Given the description of an element on the screen output the (x, y) to click on. 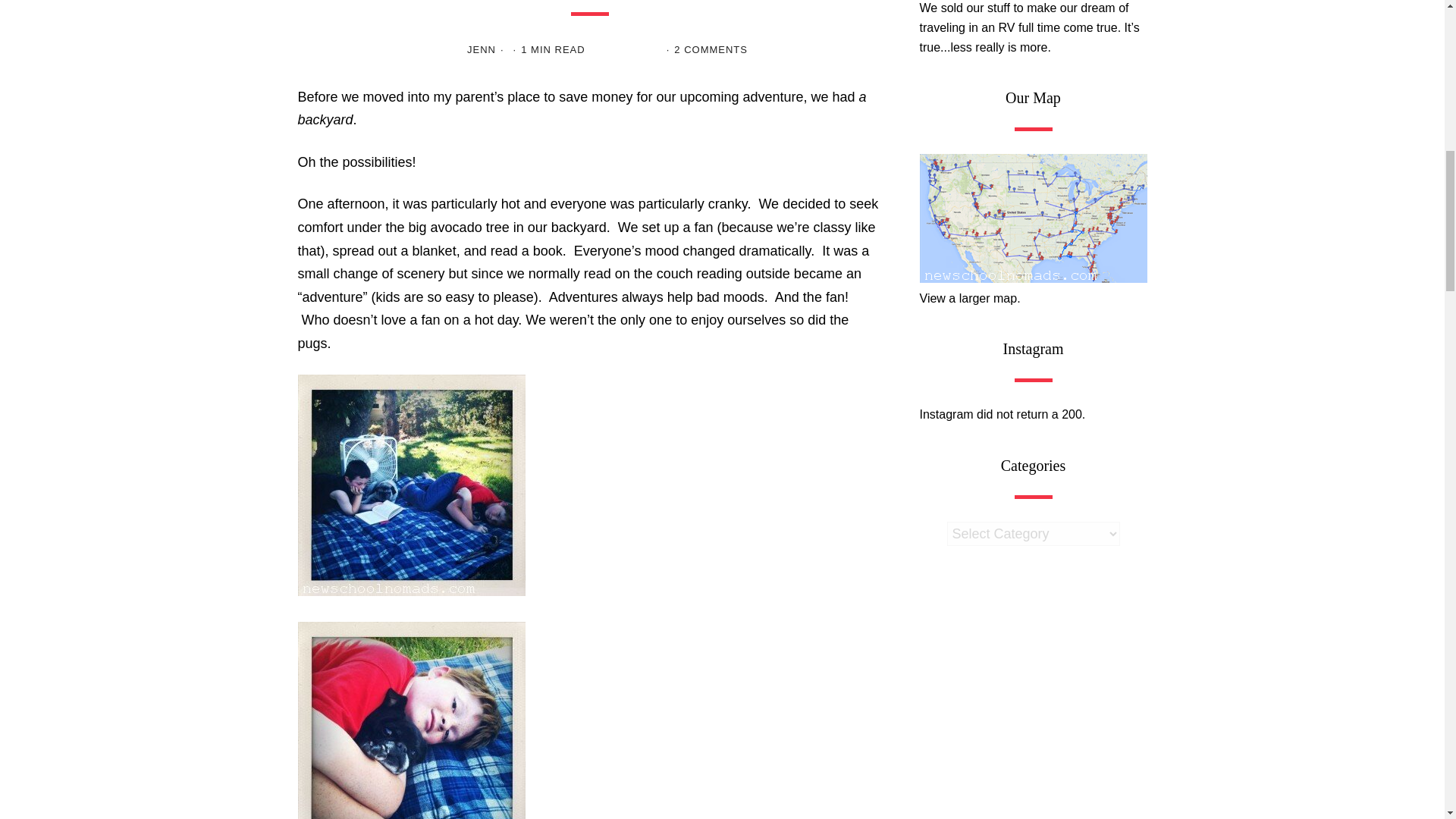
2 COMMENTS (711, 50)
Pugs Backyard 1 (410, 720)
Posts by Jenn (481, 49)
View a larger map. (1032, 287)
Pugs Backyard 2 (410, 485)
JENN (481, 49)
